Given the description of an element on the screen output the (x, y) to click on. 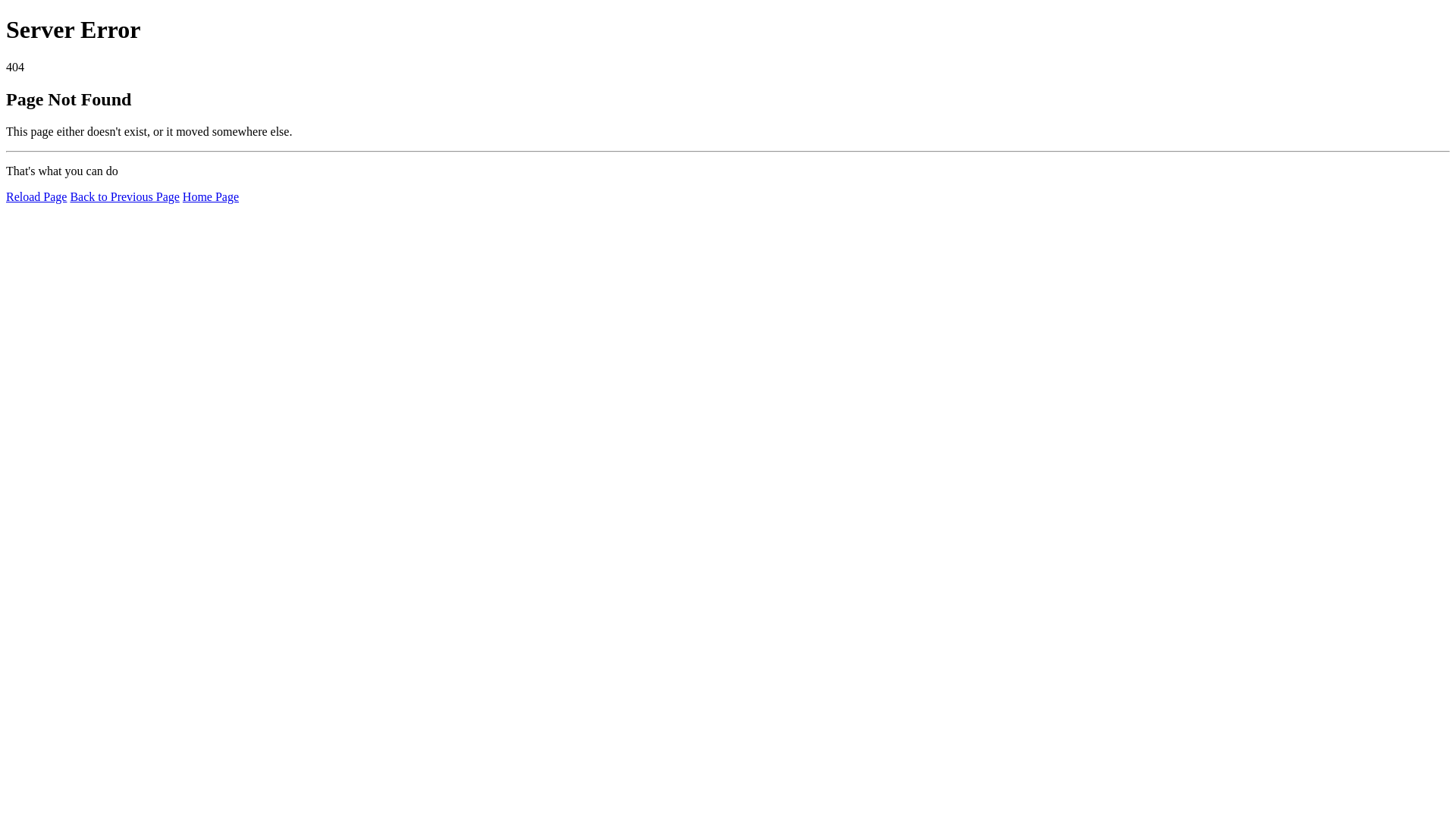
Home Page Element type: text (210, 196)
Back to Previous Page Element type: text (123, 196)
Reload Page Element type: text (36, 196)
